Given the description of an element on the screen output the (x, y) to click on. 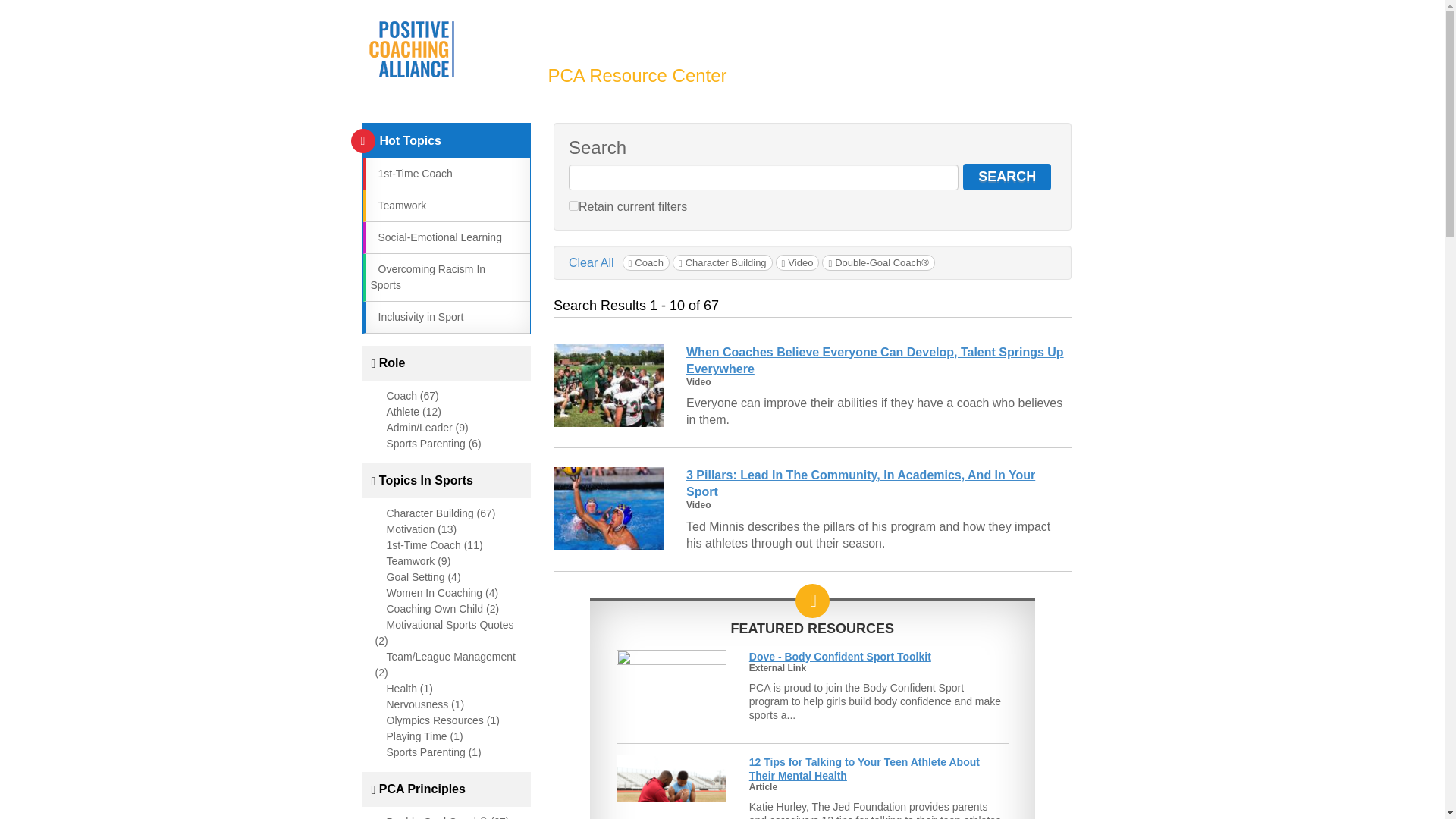
Teamwork (397, 205)
1 (573, 205)
SEARCH (1006, 176)
Clear All (591, 262)
Social-Emotional Learning (434, 236)
1st-Time Coach (410, 173)
Overcoming Racism In Sports (426, 276)
Inclusivity in Sport (416, 316)
